Given the description of an element on the screen output the (x, y) to click on. 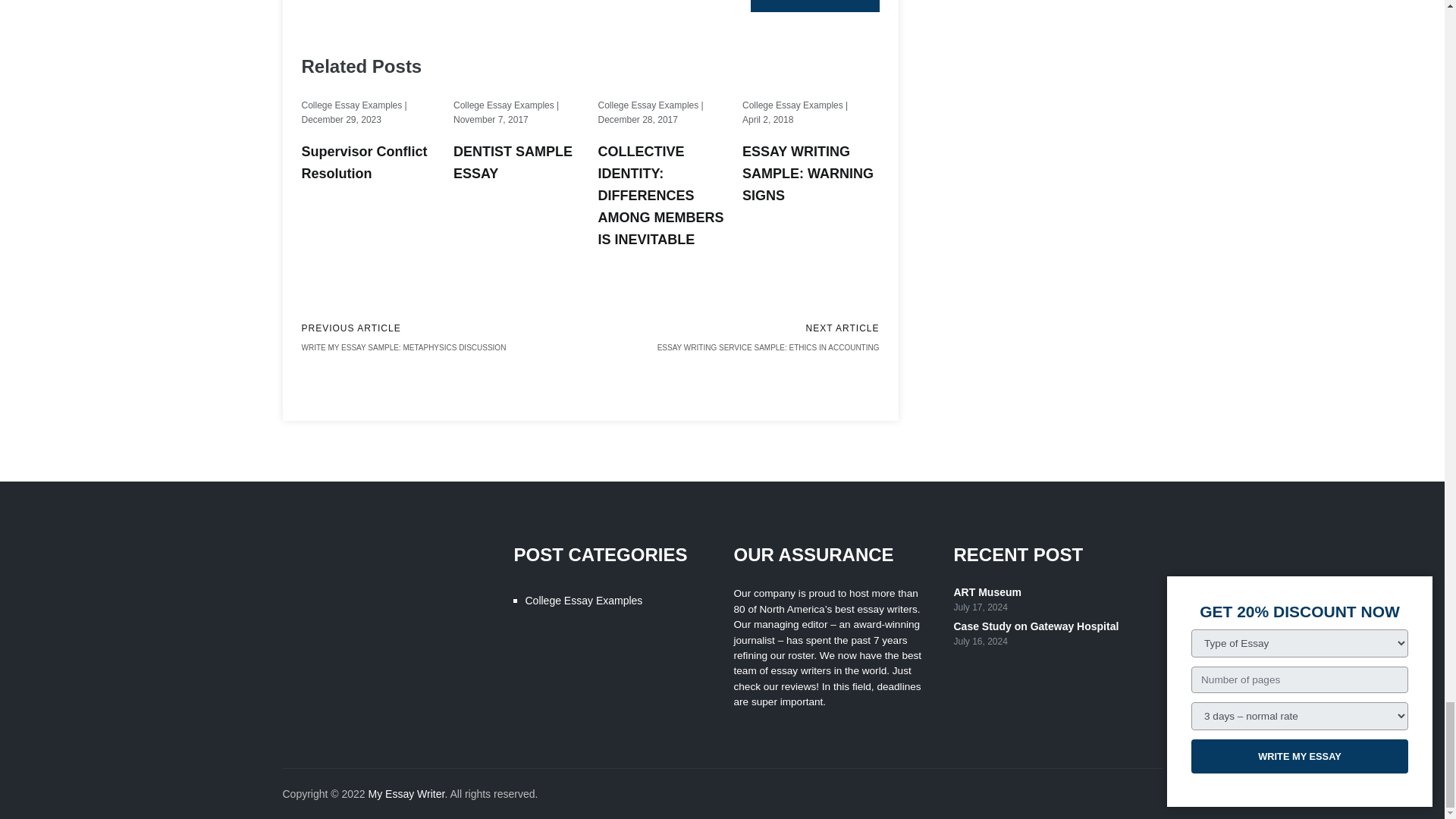
Post Comment (815, 6)
